Given the description of an element on the screen output the (x, y) to click on. 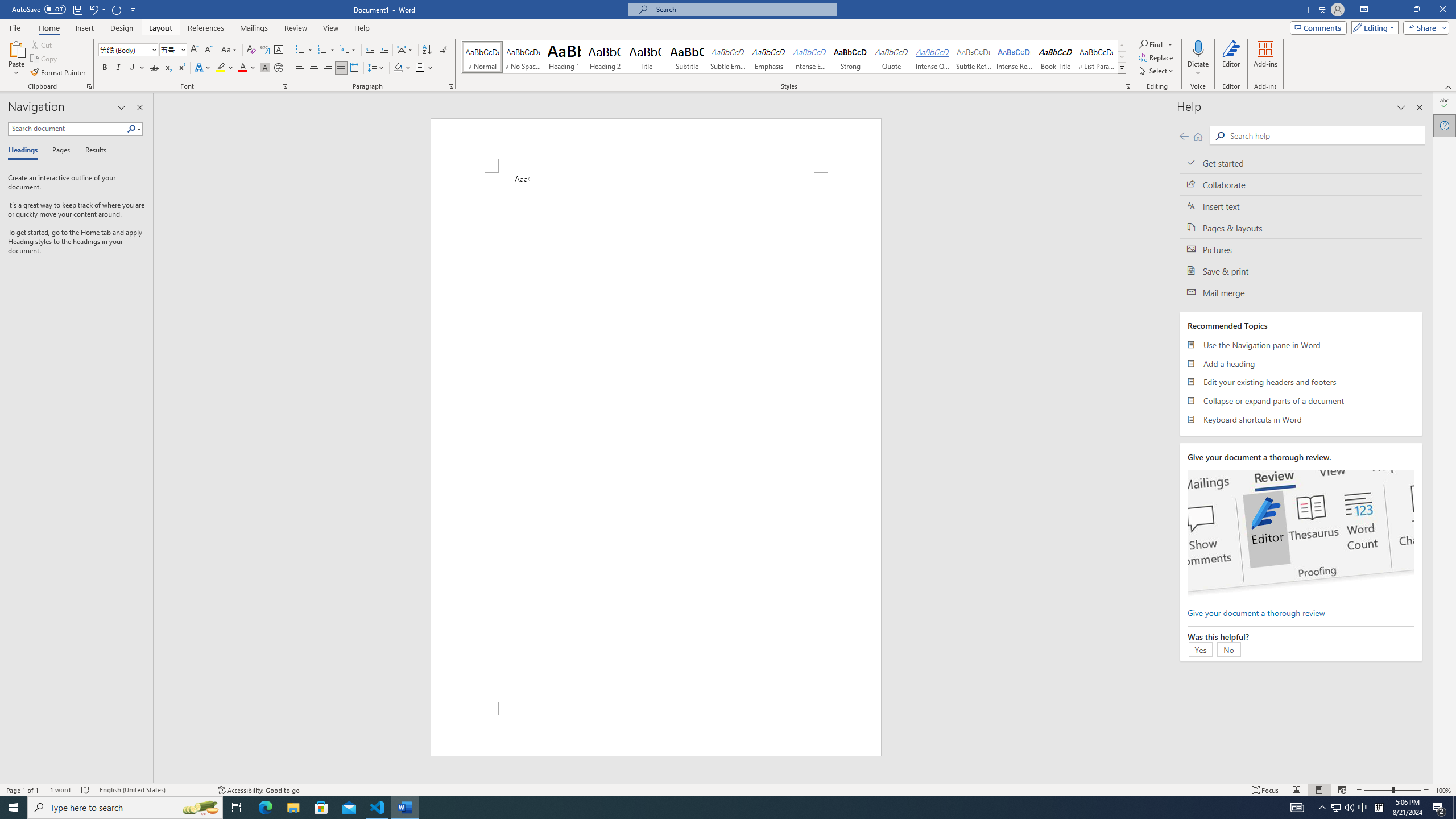
Get started (1300, 162)
Intense Quote (932, 56)
Quote (891, 56)
Mail merge (1300, 292)
Book Title (1055, 56)
Character Shading (264, 67)
Asian Layout (405, 49)
Intense Reference (1014, 56)
Pages (59, 150)
Language English (United States) (152, 790)
Subtle Reference (973, 56)
